Given the description of an element on the screen output the (x, y) to click on. 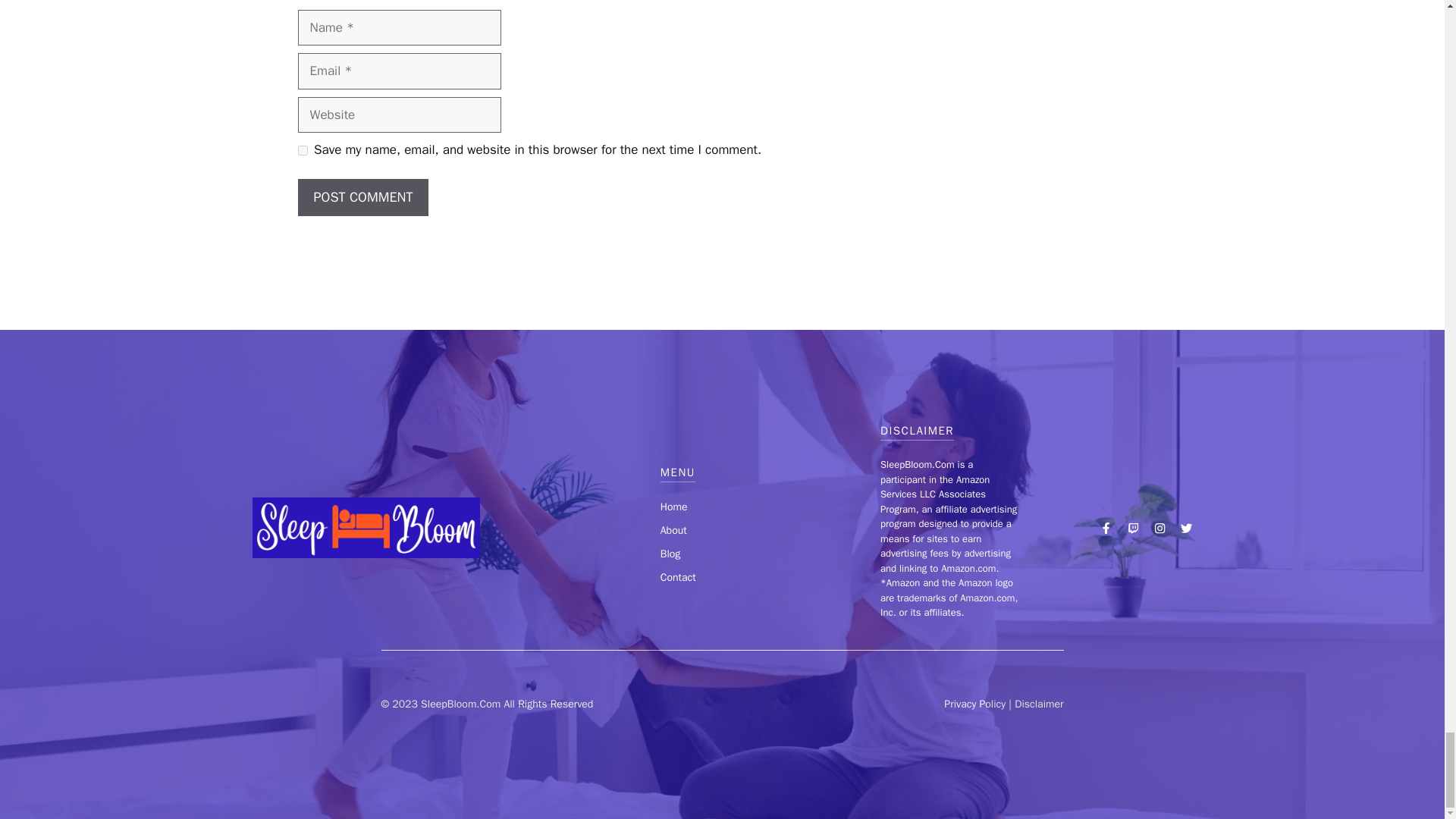
Post Comment (362, 197)
yes (302, 150)
